Given the description of an element on the screen output the (x, y) to click on. 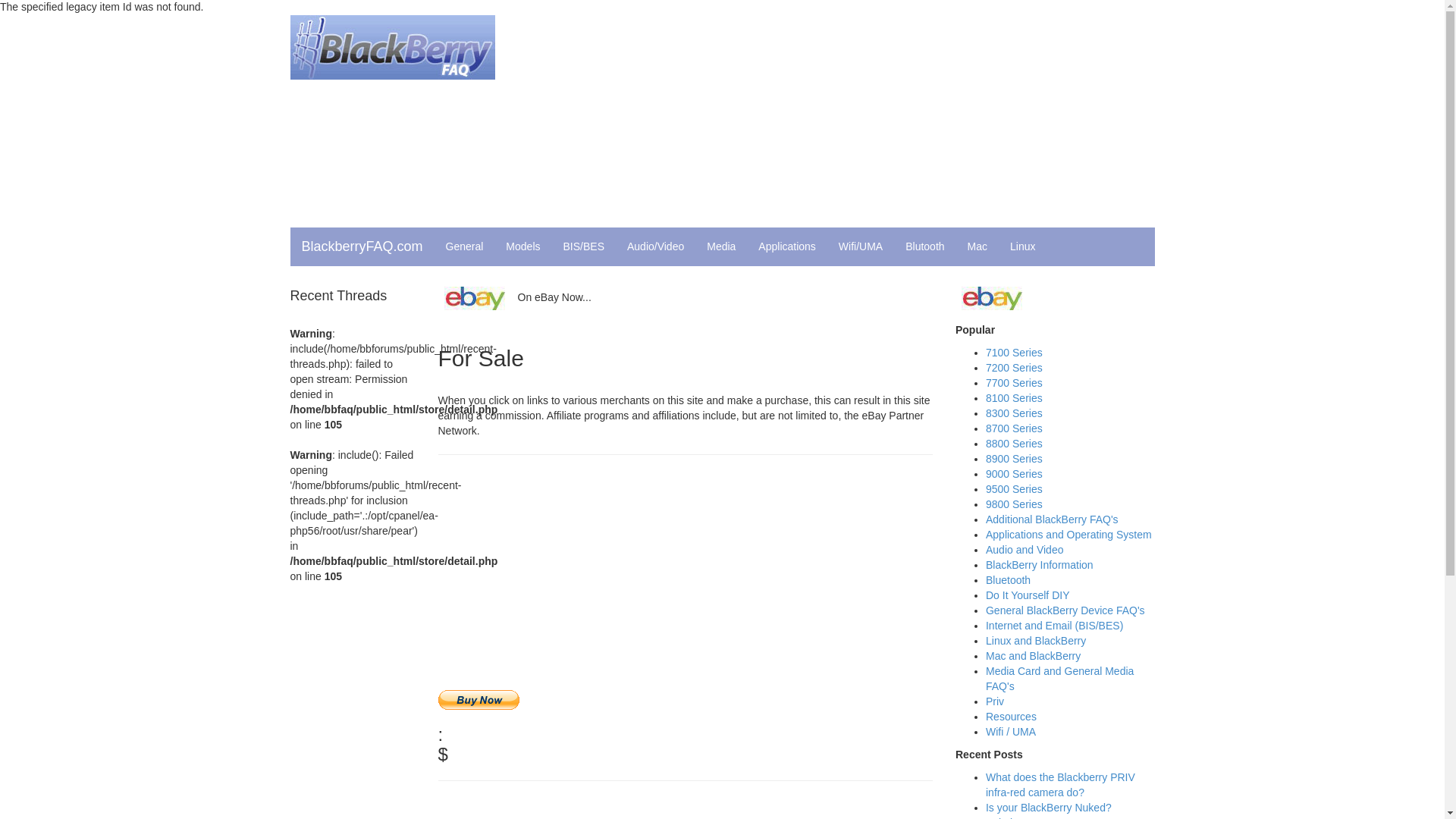
9800 Series (1013, 503)
Bluetooth (1007, 580)
9500 Series (1013, 489)
7200 Series (1013, 367)
General BlackBerry Device FAQ's (1064, 610)
Mac (977, 246)
Audio and Video (1024, 549)
Media Card and General Media FAQ's (1059, 678)
Advertisement (869, 121)
Advertisement (684, 807)
7100 Series (1013, 352)
BlackBerry Information (1039, 564)
General (464, 246)
Priv (994, 701)
7700 Series (1013, 382)
